Given the description of an element on the screen output the (x, y) to click on. 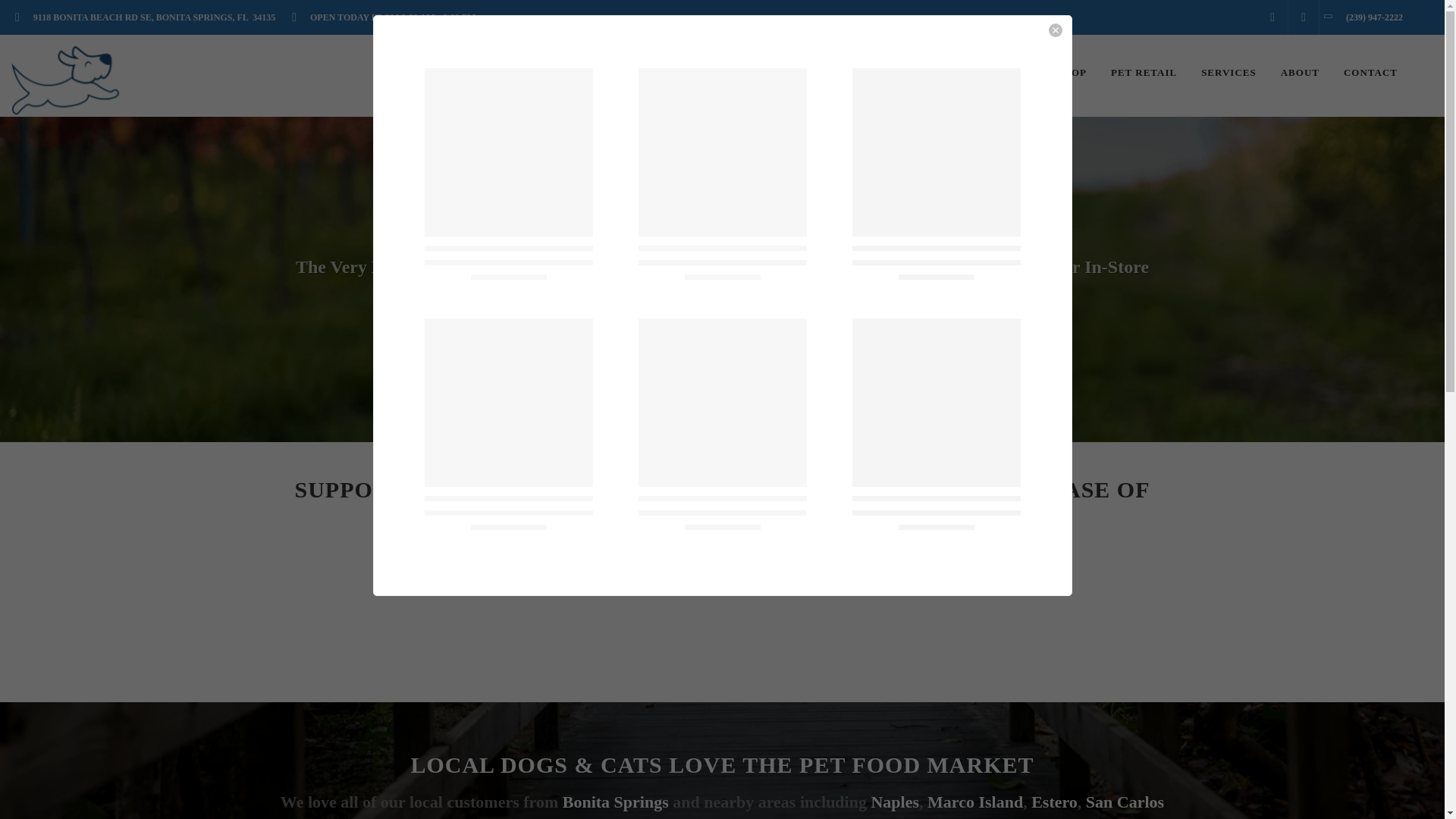
PET RETAIL (1143, 72)
Marco Island (975, 801)
Estero (1053, 801)
Bonita Springs (615, 801)
Naples (894, 801)
The Pet Food Market Contact Near Bonita Springs (1370, 72)
Get Directions From Naples (894, 801)
OPEN TODAY FROM 9:30 AM - 6:00 PM (387, 16)
CONTACT (1370, 72)
Fort Myers Beach (658, 818)
